Given the description of an element on the screen output the (x, y) to click on. 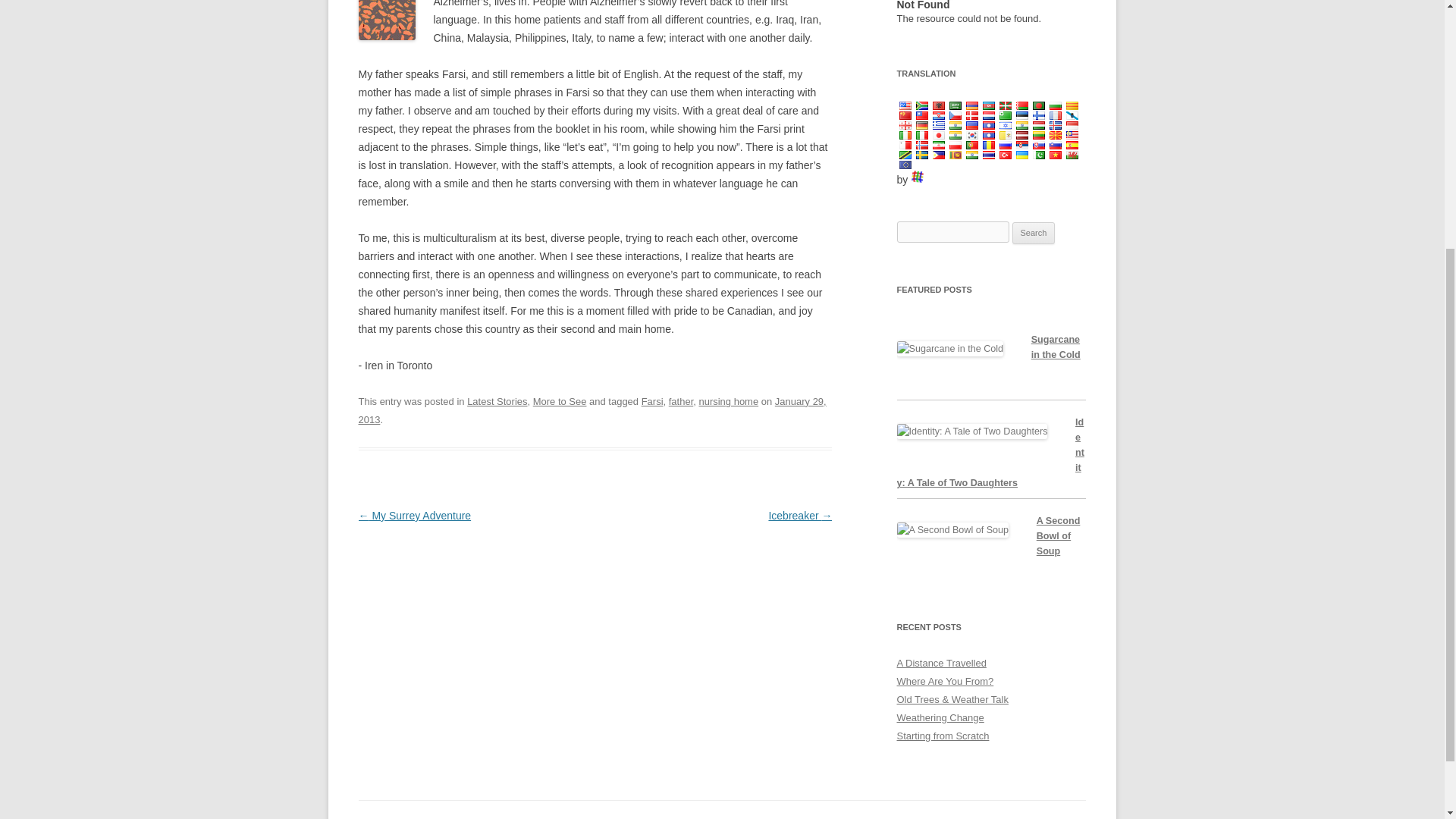
Farsi (652, 401)
father (681, 401)
12:18 pm (591, 410)
Shqip (938, 105)
nursing home (728, 401)
View all posts in More to See (559, 401)
View all posts in Latest Stories (497, 401)
Search (1033, 232)
Afrikaans (921, 105)
Latest Stories (497, 401)
January 29, 2013 (591, 410)
More to See (559, 401)
English (904, 105)
